Given the description of an element on the screen output the (x, y) to click on. 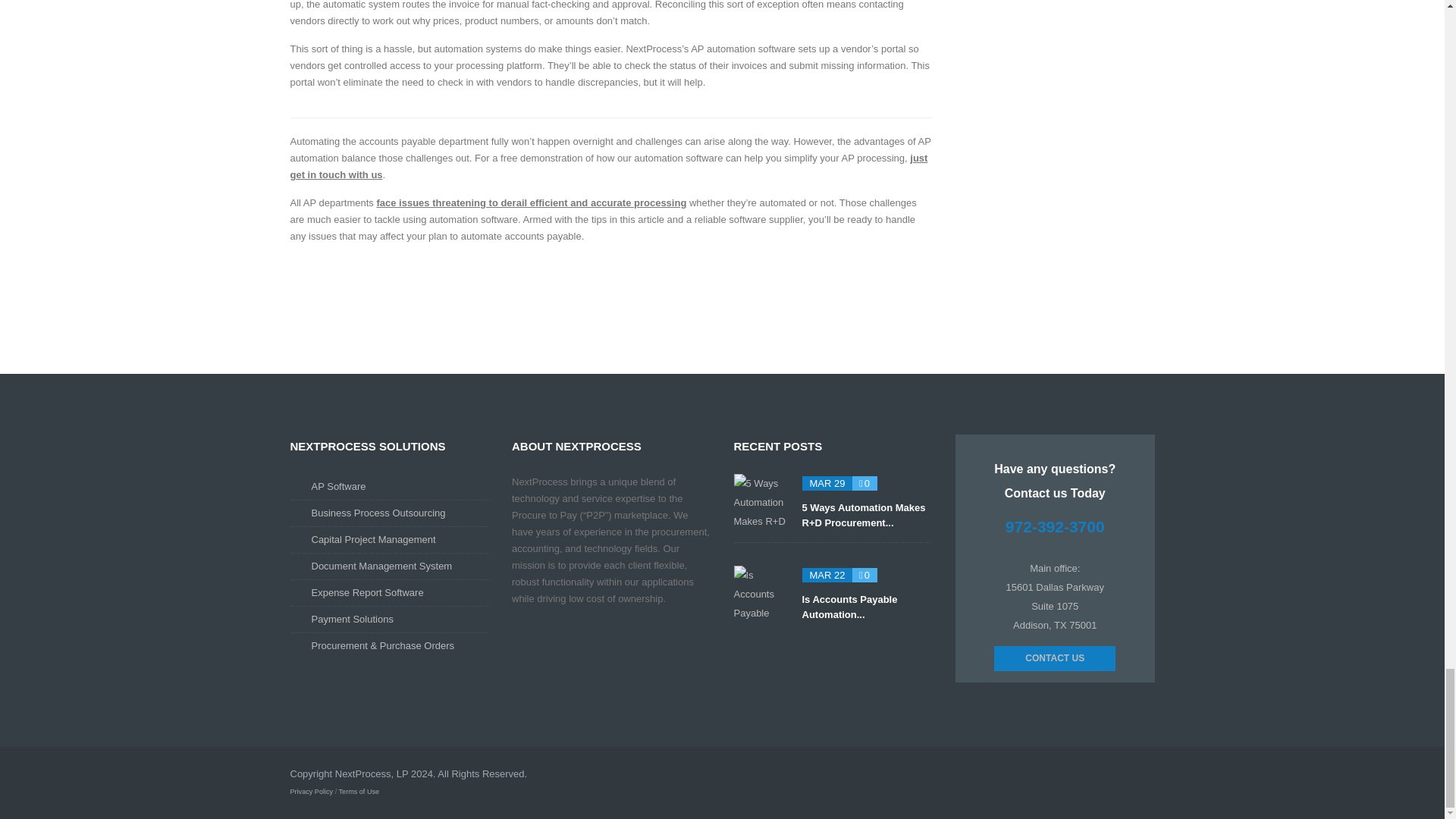
Payment Solutions (352, 618)
Expense Report Software (367, 592)
Capital Project Management (373, 539)
Business Process Outsourcing (378, 512)
AP Software (338, 486)
Document Management System (381, 565)
